Given the description of an element on the screen output the (x, y) to click on. 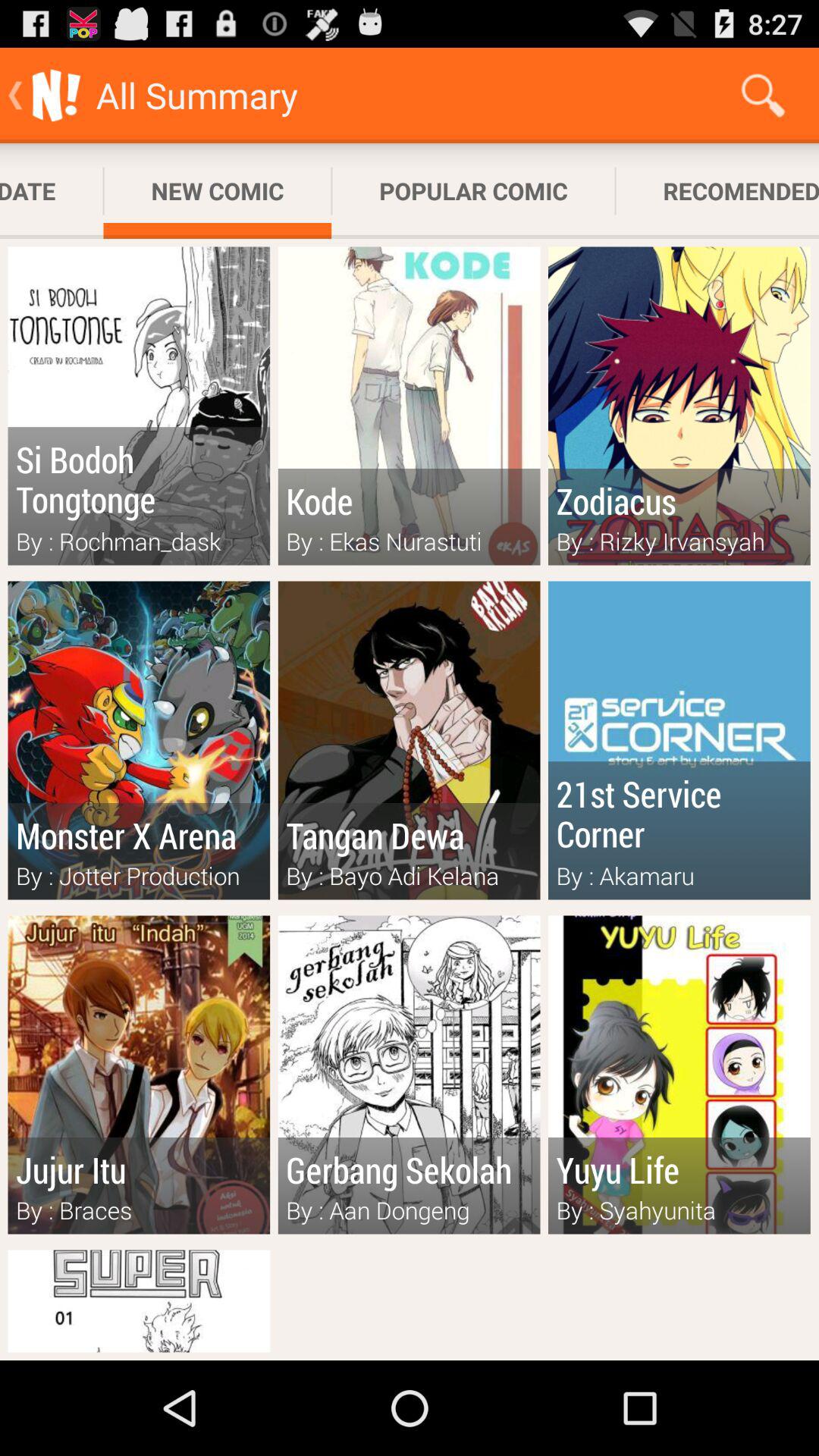
jump to new comic app (217, 190)
